Given the description of an element on the screen output the (x, y) to click on. 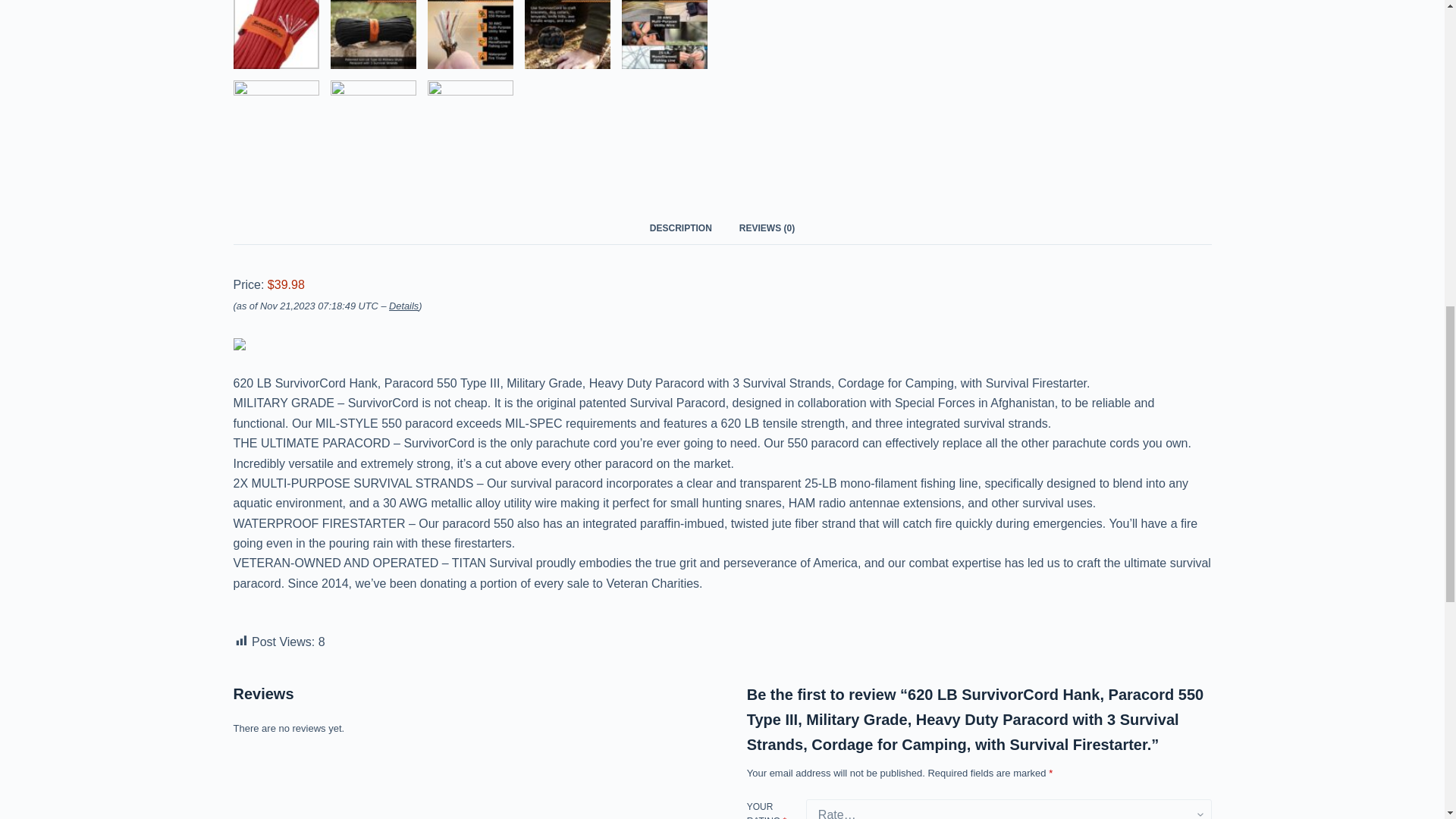
DESCRIPTION (680, 227)
